Given the description of an element on the screen output the (x, y) to click on. 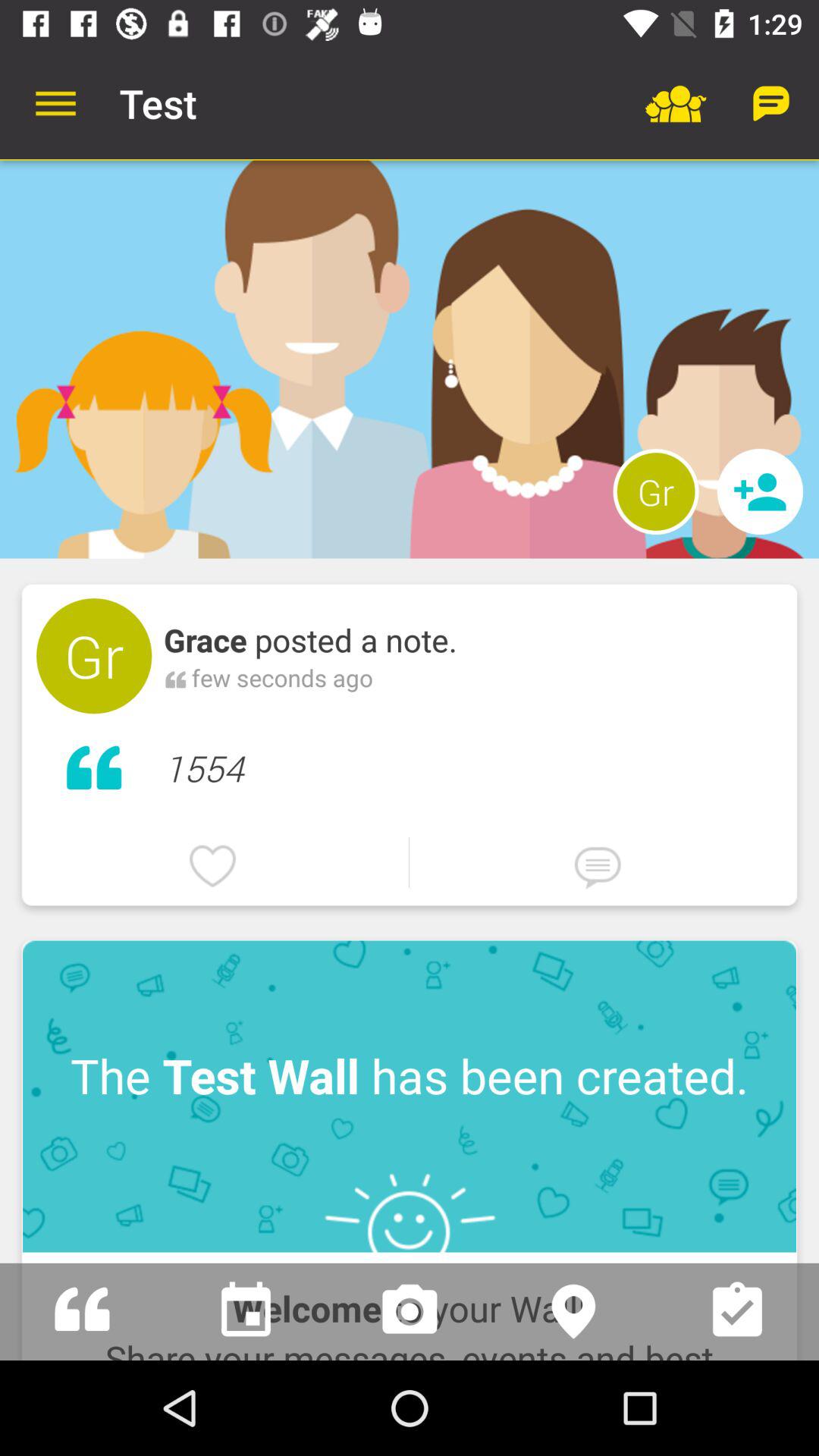
photos button (409, 1311)
